Given the description of an element on the screen output the (x, y) to click on. 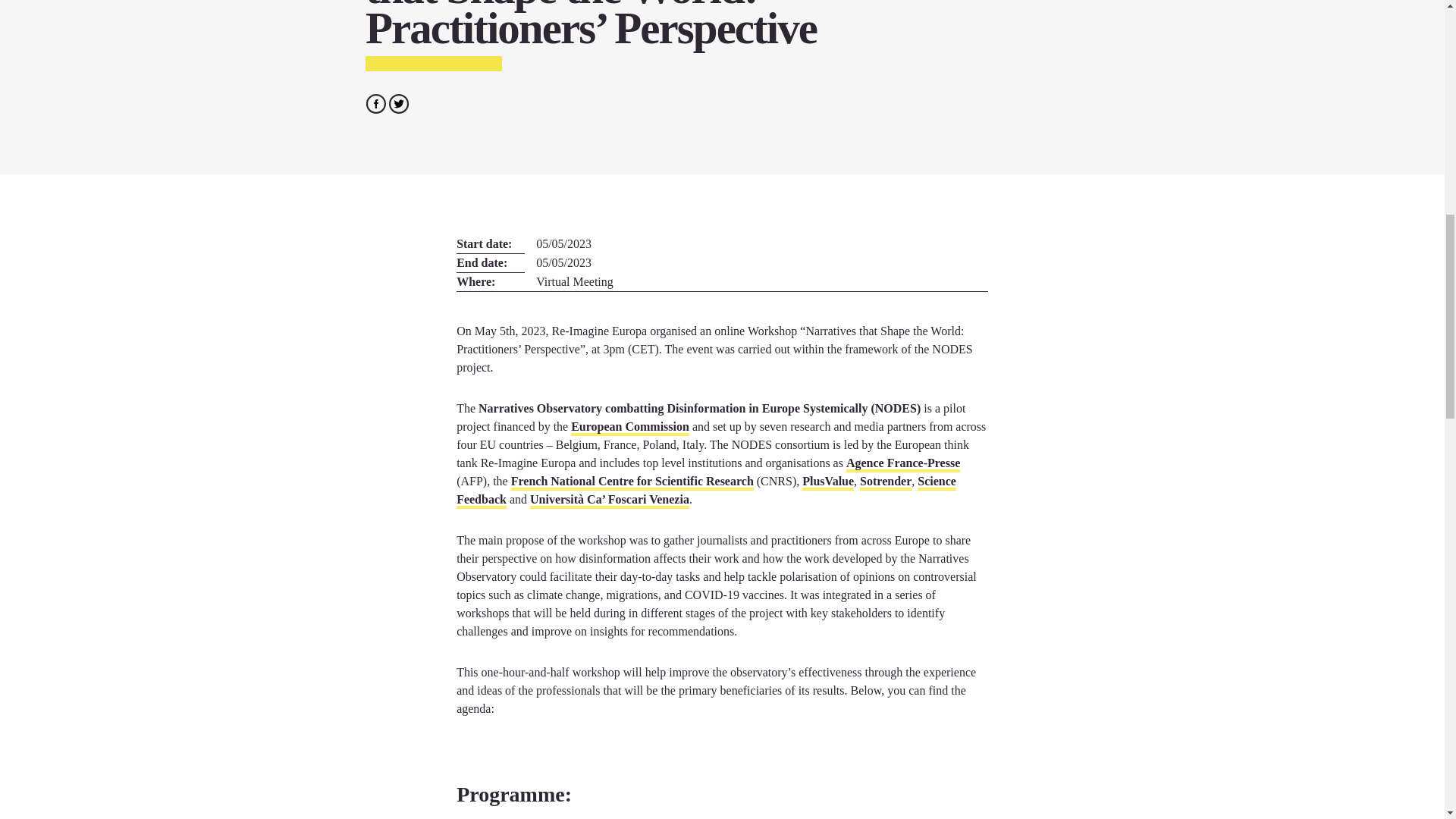
Facebook (376, 102)
European Commission (629, 427)
Agence France-Presse (902, 464)
PlusValue (827, 482)
Twitter Created with Sketch. (398, 102)
Facebook (375, 103)
Twitter Created with Sketch. (398, 103)
French National Centre for Scientific Research (632, 482)
